Given the description of an element on the screen output the (x, y) to click on. 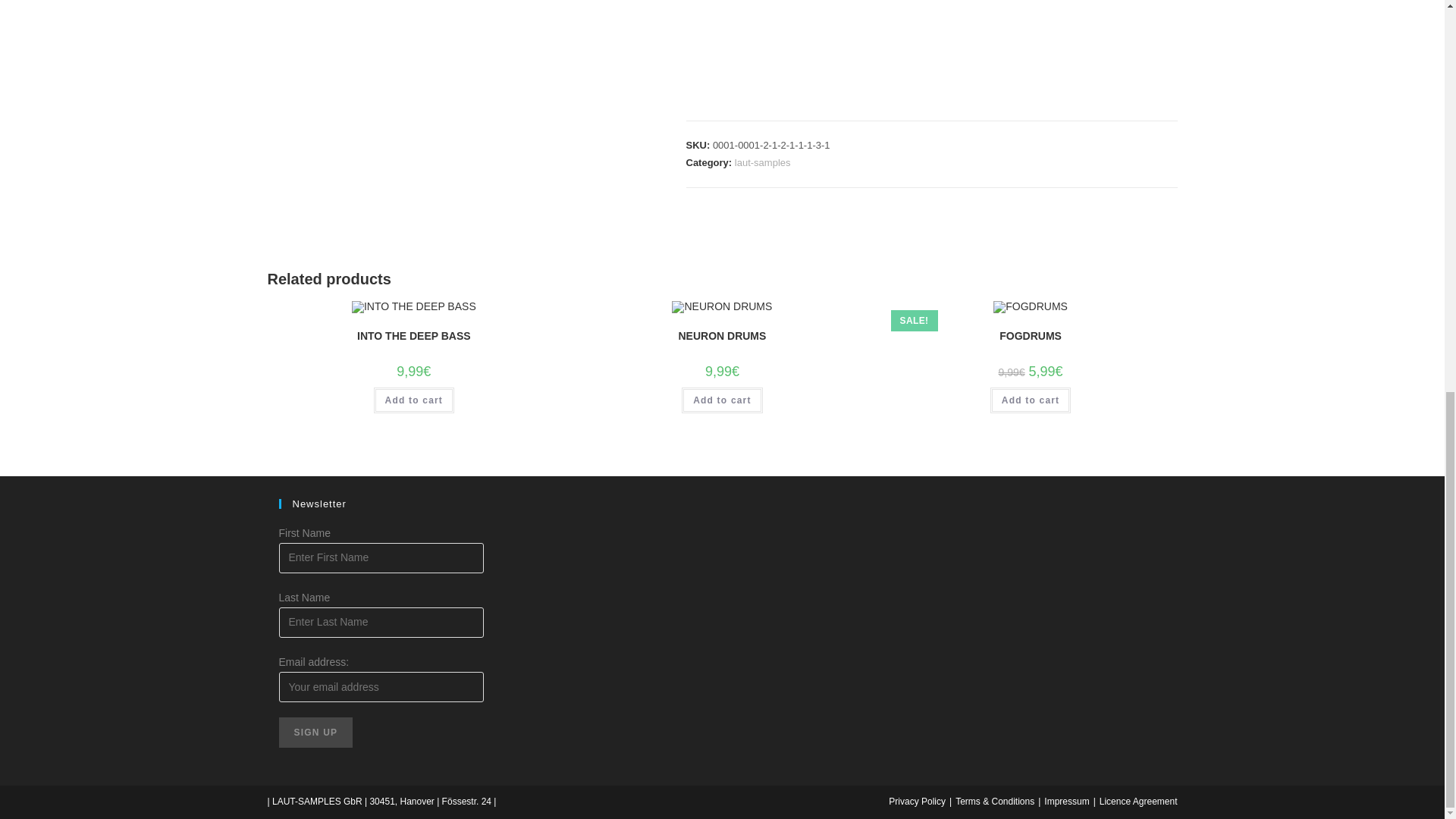
Add to cart (1030, 400)
Add to cart (721, 400)
INTO THE DEEP BASS (413, 335)
Sign up (316, 732)
Privacy Policy (916, 801)
laut-samples (762, 162)
NEURON DRUMS (721, 335)
FOGDRUMS (1029, 335)
Add to cart (414, 400)
Sign up (316, 732)
